Given the description of an element on the screen output the (x, y) to click on. 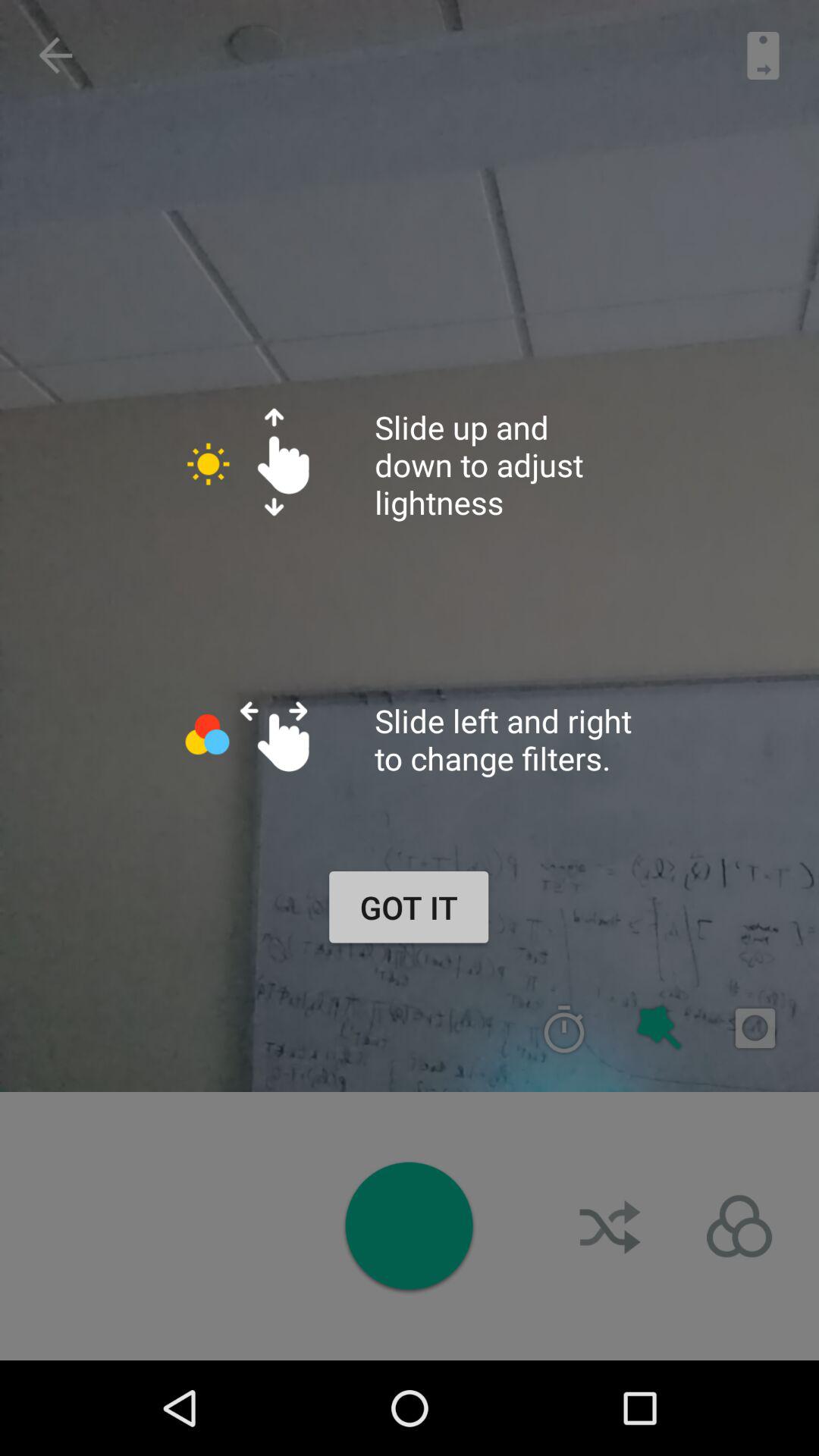
previous page (55, 55)
